Given the description of an element on the screen output the (x, y) to click on. 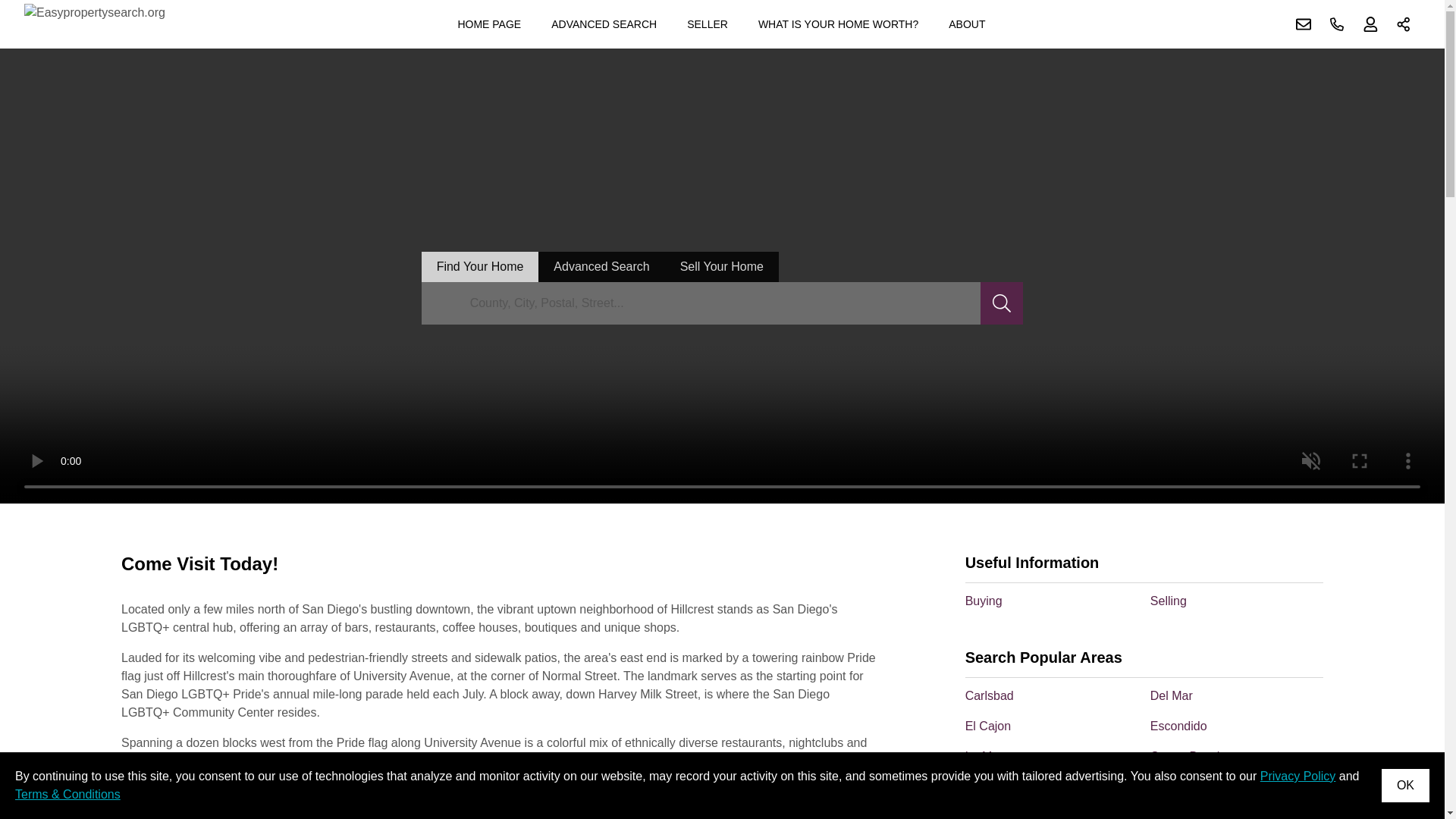
SELLER (707, 24)
ABOUT (966, 24)
ADVANCED SEARCH (603, 24)
Share (1404, 23)
Sign up or Sign in (1370, 23)
Contact us (1303, 23)
Easypropertysearch.org (94, 24)
Phone number (1337, 23)
WHAT IS YOUR HOME WORTH? (838, 24)
HOME PAGE (488, 24)
